Given the description of an element on the screen output the (x, y) to click on. 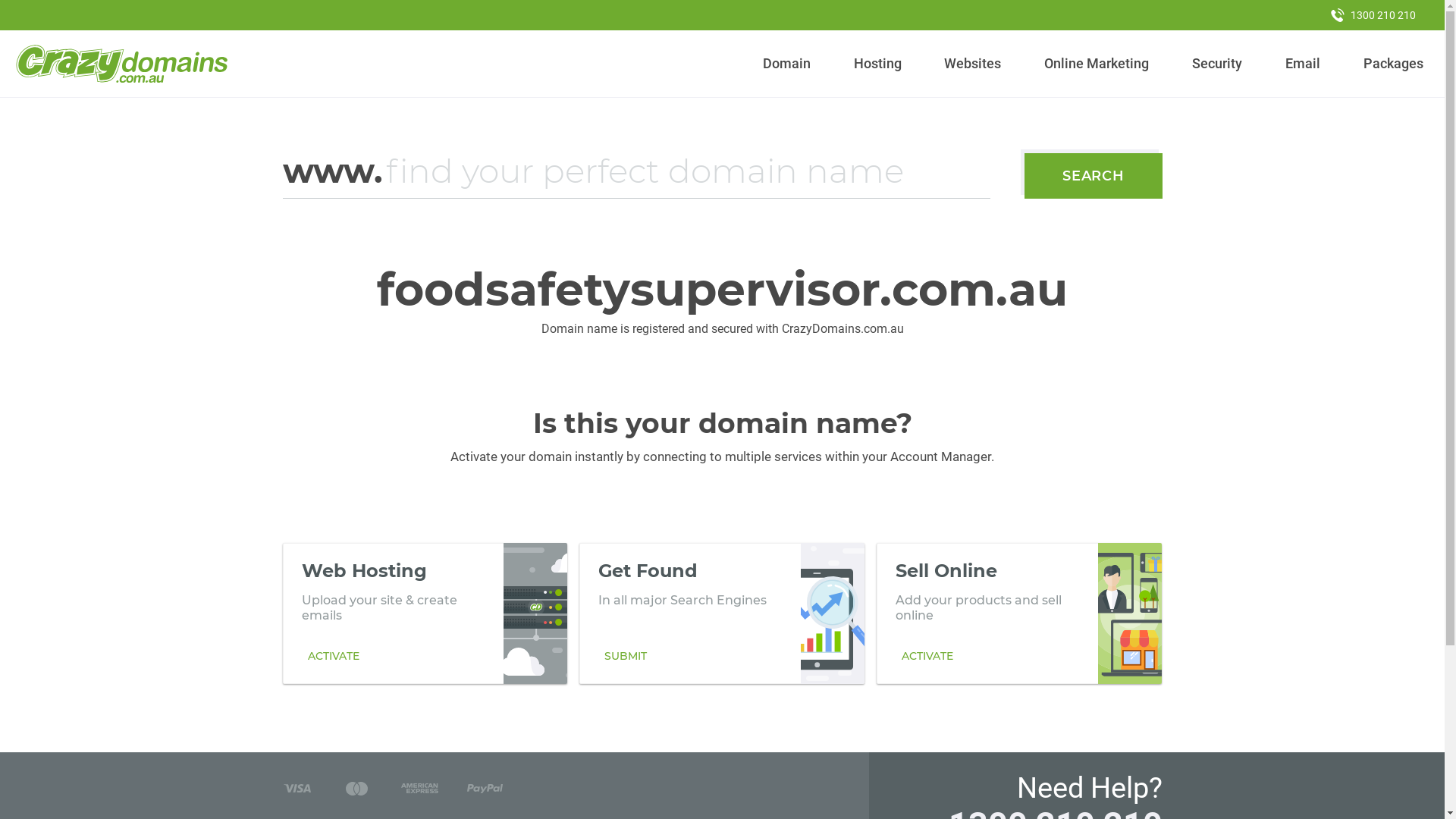
Sell Online
Add your products and sell online
ACTIVATE Element type: text (1018, 613)
1300 210 210 Element type: text (1373, 15)
SEARCH Element type: text (1092, 175)
Packages Element type: text (1392, 63)
Domain Element type: text (786, 63)
Hosting Element type: text (877, 63)
Web Hosting
Upload your site & create emails
ACTIVATE Element type: text (424, 613)
Websites Element type: text (972, 63)
Email Element type: text (1302, 63)
Online Marketing Element type: text (1096, 63)
Get Found
In all major Search Engines
SUBMIT Element type: text (721, 613)
Security Element type: text (1217, 63)
